Given the description of an element on the screen output the (x, y) to click on. 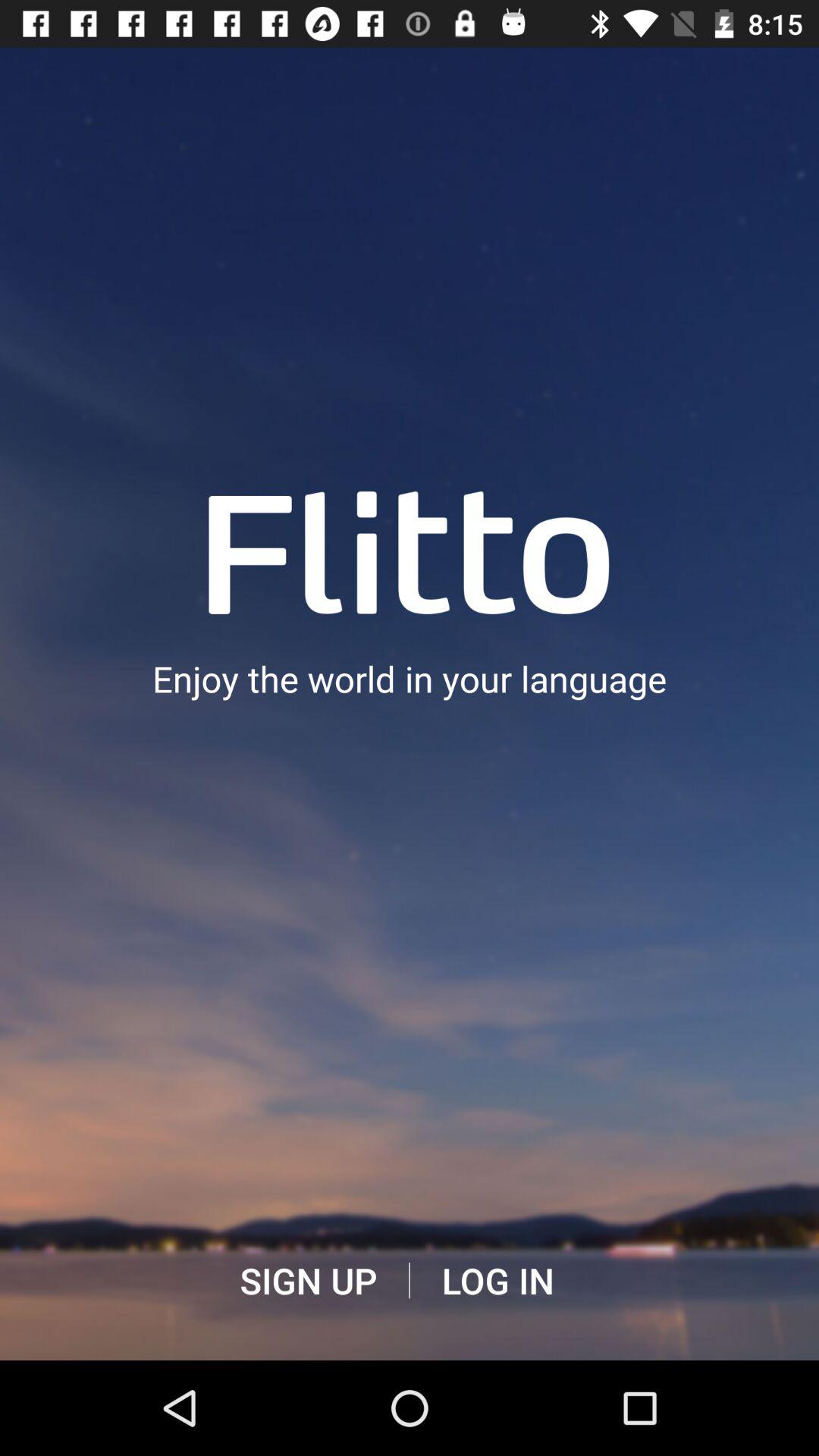
turn on the sign up icon (308, 1280)
